Given the description of an element on the screen output the (x, y) to click on. 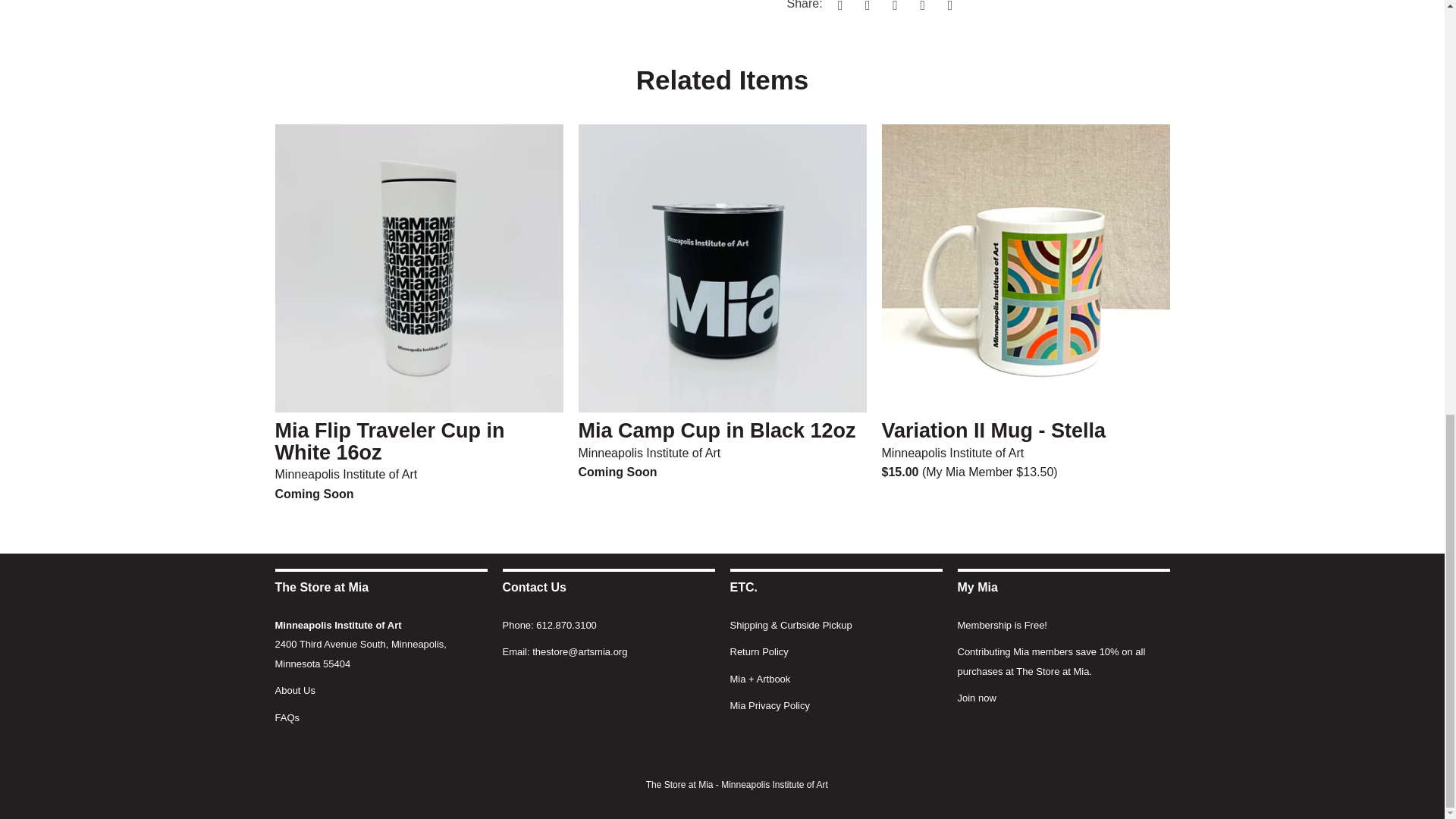
Share this on Pinterest (892, 6)
Email this to a friend (947, 6)
Return Policy (758, 651)
Share this on Twitter (837, 6)
About (294, 690)
Frequently Asked Questions (287, 717)
Share this on Facebook (865, 6)
Minneapolis Institute of Art (338, 624)
